Given the description of an element on the screen output the (x, y) to click on. 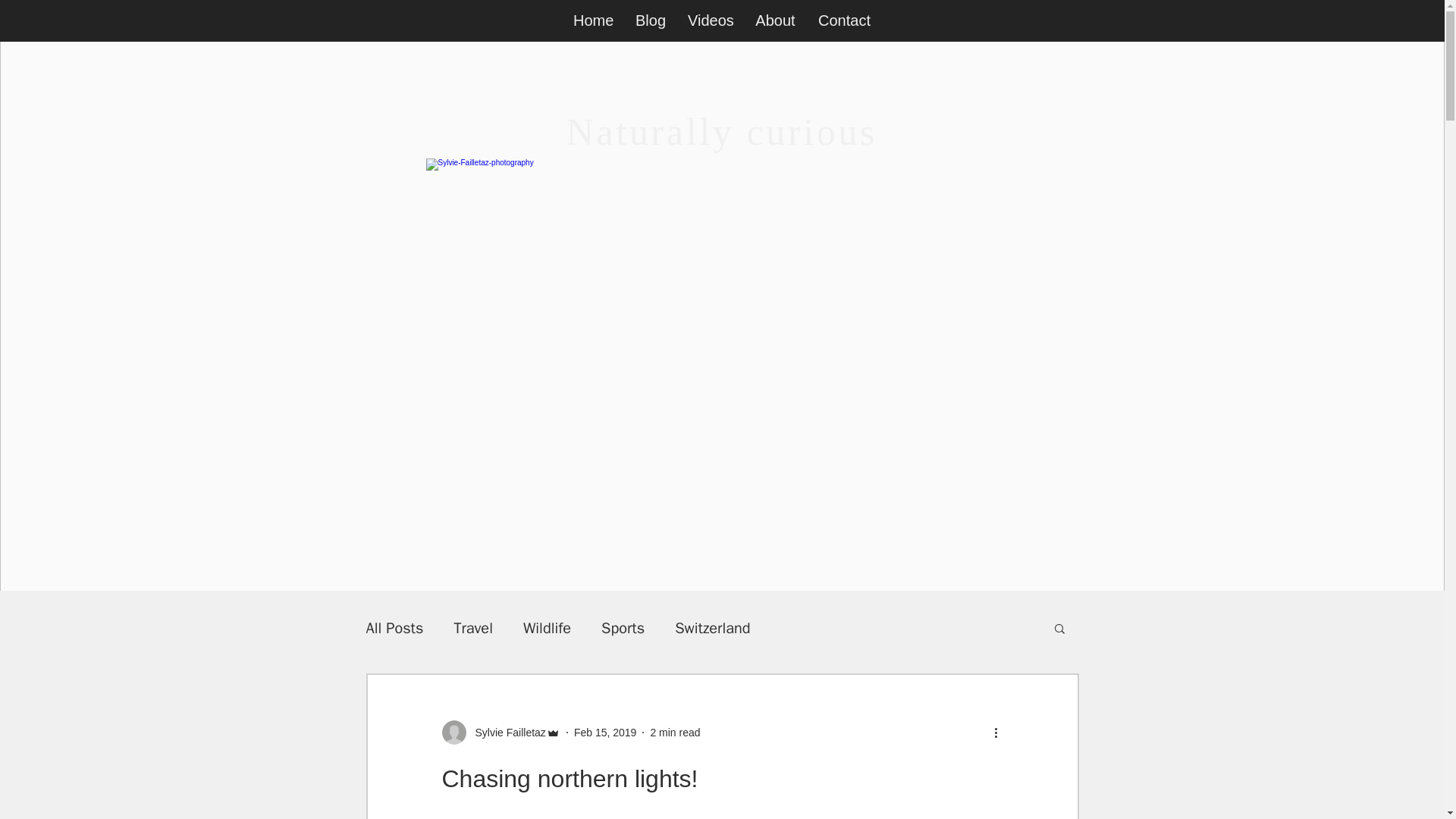
Switzerland (712, 627)
Sylvie Failletaz (504, 732)
About (775, 20)
Travel (472, 627)
Naturally curious (721, 131)
Sports (623, 627)
Contact (844, 20)
Feb 15, 2019 (605, 732)
All Posts (394, 627)
2 min read (674, 732)
Wildlife (546, 627)
Videos (710, 20)
Blog (650, 20)
Home (593, 20)
